Given the description of an element on the screen output the (x, y) to click on. 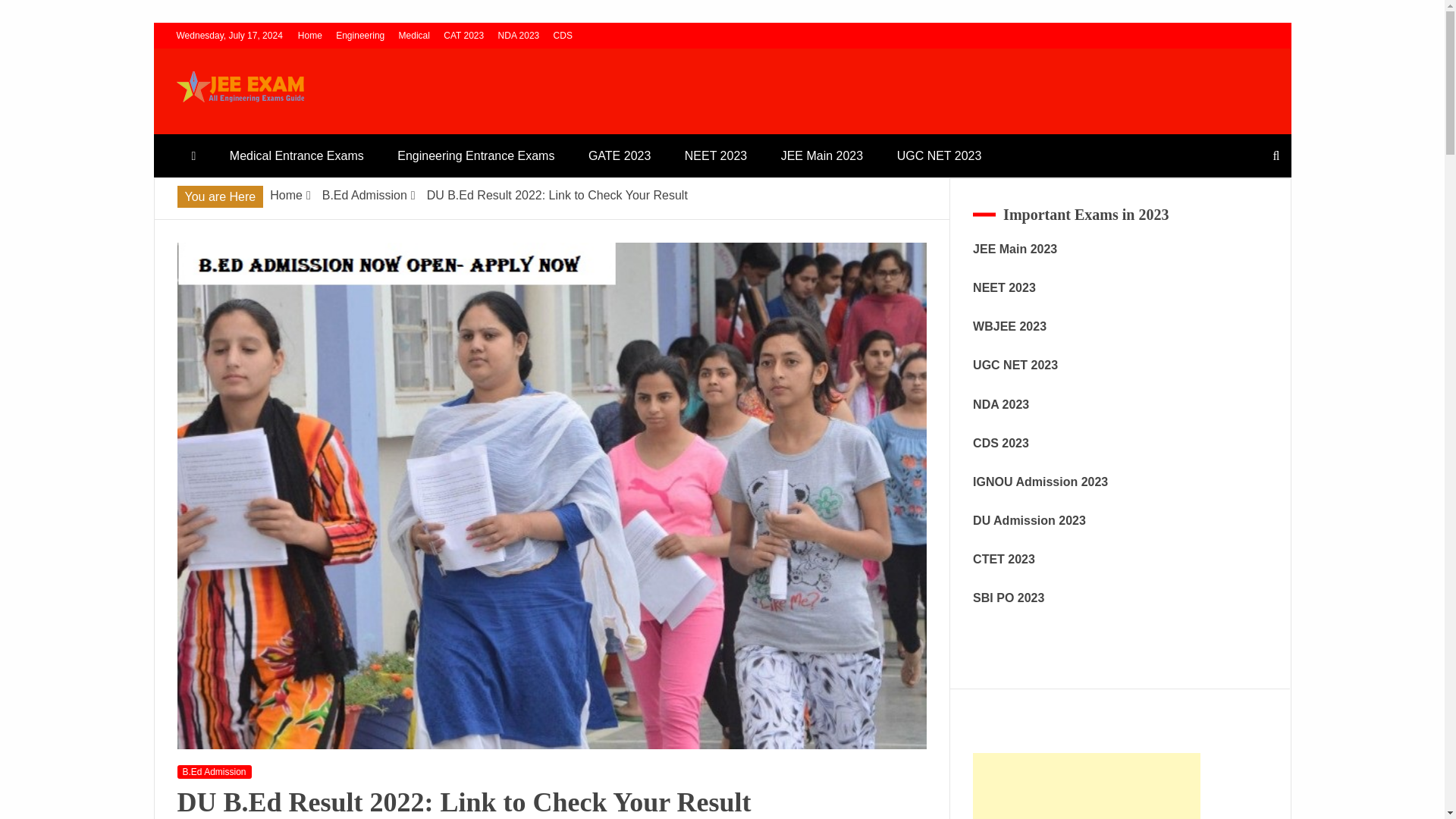
NDA 2023 (518, 35)
Medical (413, 35)
CAT 2023 (463, 35)
UGC NET 2023 (939, 155)
B.Ed Admission (214, 771)
JEE Exam (238, 127)
GATE 2023 (619, 155)
Search (31, 13)
B.Ed Admission (364, 195)
NEET 2023 (715, 155)
CDS (562, 35)
JEE Main 2023 (822, 155)
Engineering Entrance Exams (475, 155)
Engineering (360, 35)
